Given the description of an element on the screen output the (x, y) to click on. 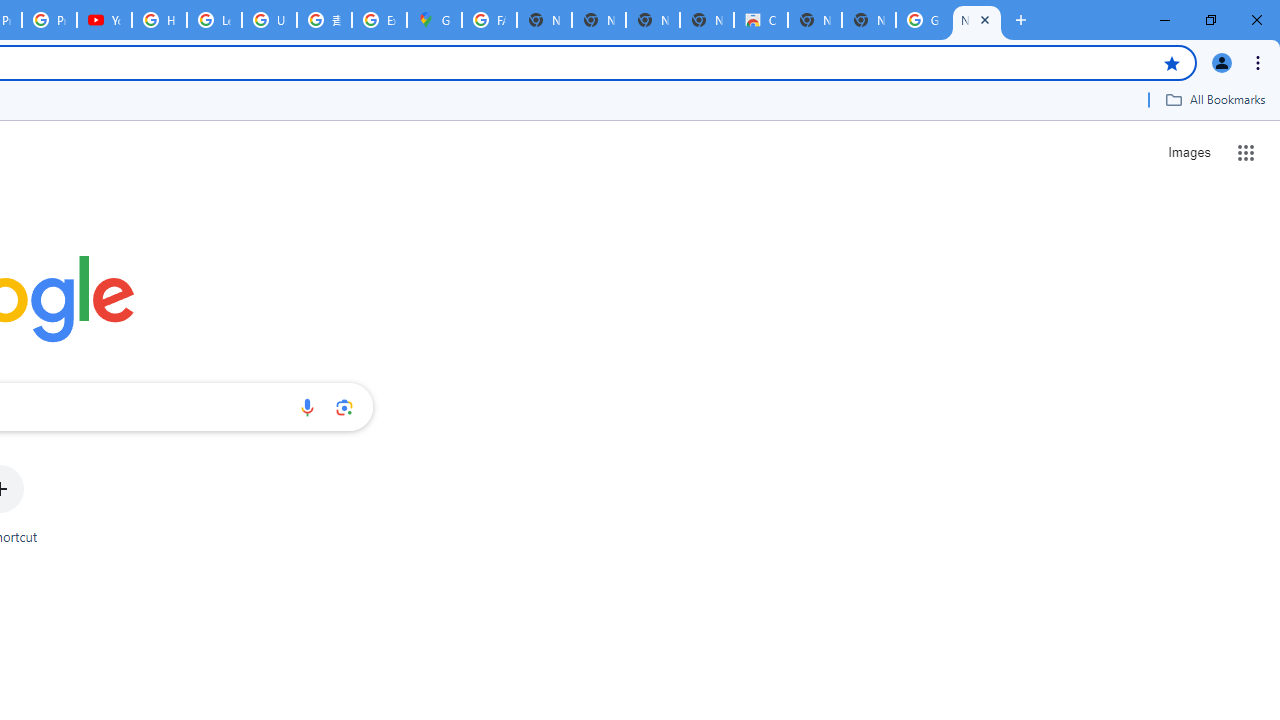
Explore new street-level details - Google Maps Help (379, 20)
Google Images (922, 20)
How Chrome protects your passwords - Google Chrome Help (158, 20)
Privacy Checkup (48, 20)
New Tab (976, 20)
Google Maps (434, 20)
